Given the description of an element on the screen output the (x, y) to click on. 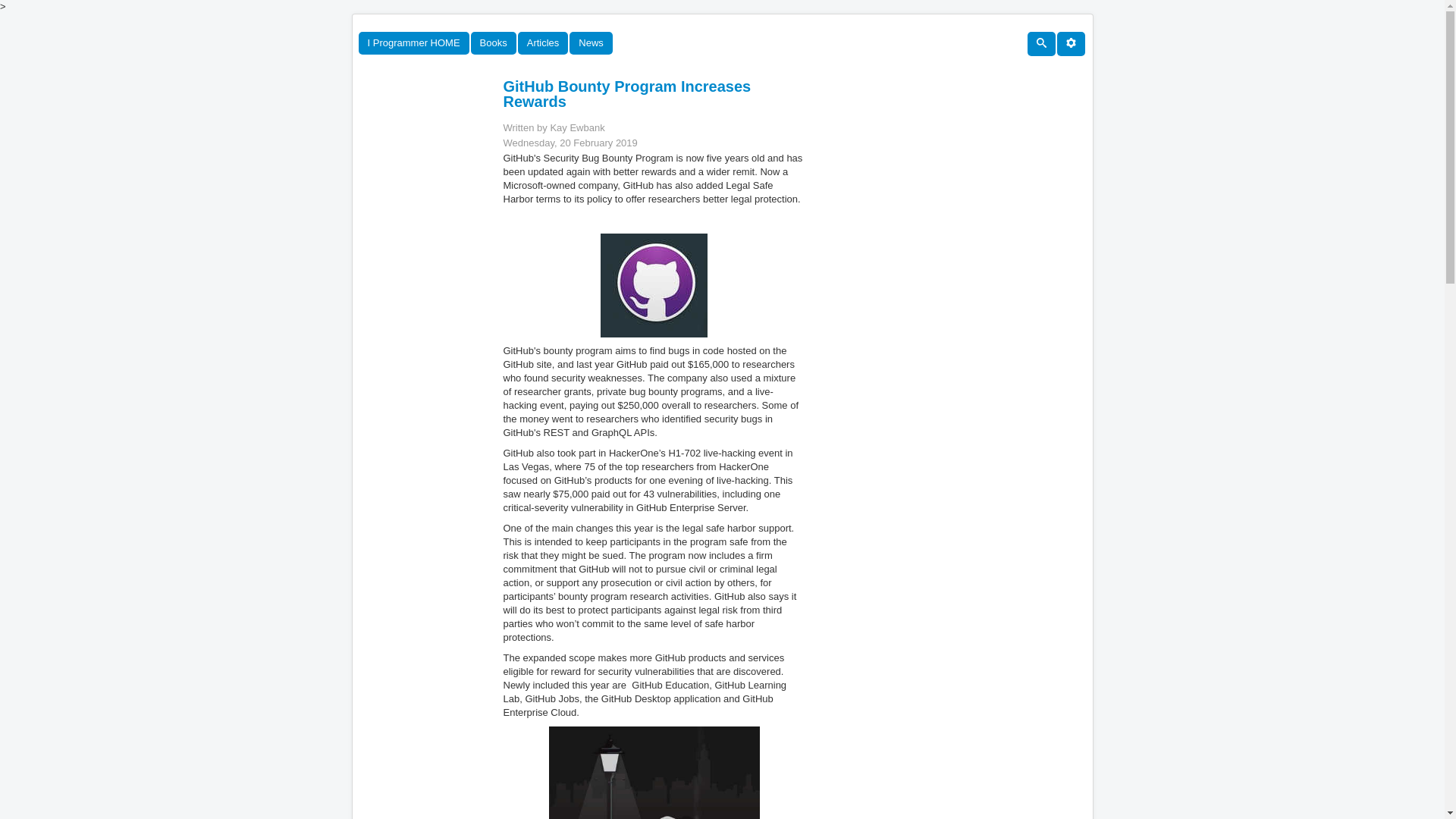
I Programmer HOME (413, 42)
Articles (543, 42)
Books (493, 42)
